Given the description of an element on the screen output the (x, y) to click on. 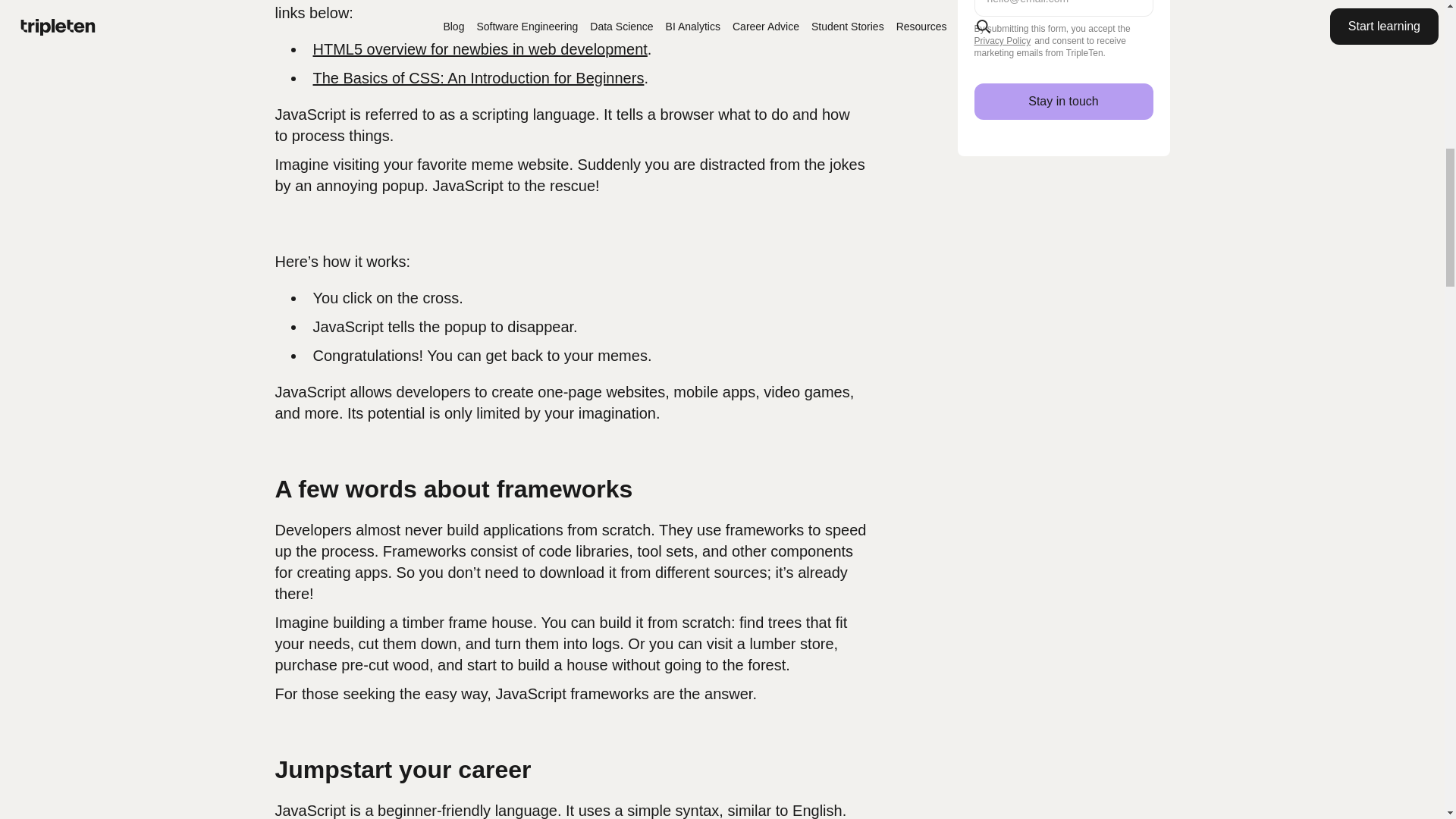
Privacy Policy (1002, 40)
Stay in touch (1063, 101)
Stay in touch (1063, 101)
The Basics of CSS: An Introduction for Beginners (478, 77)
HTML5 overview for newbies in web development (479, 48)
